Given the description of an element on the screen output the (x, y) to click on. 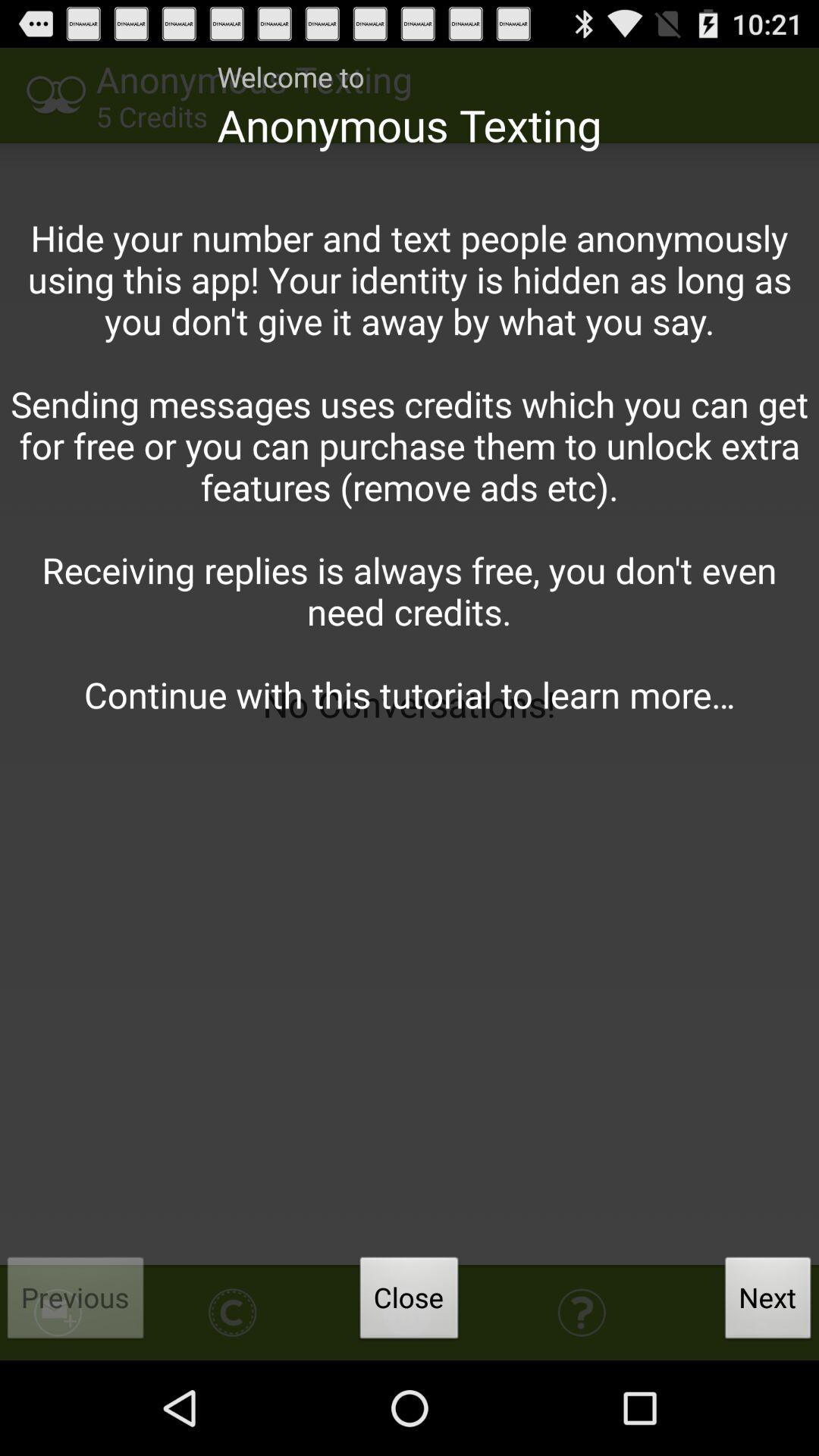
open the icon to the left of next button (409, 1302)
